Given the description of an element on the screen output the (x, y) to click on. 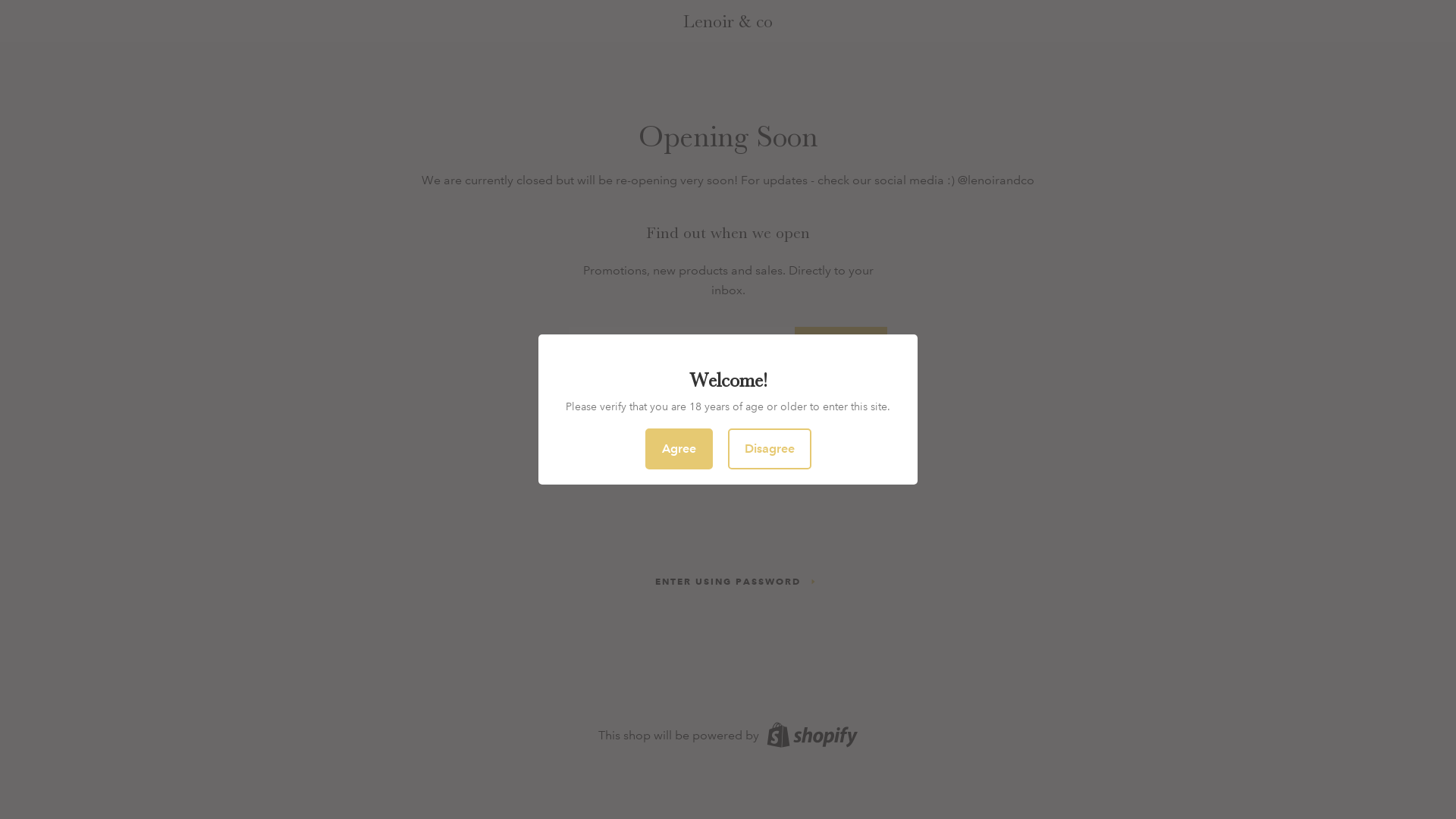
Agree Element type: text (678, 448)
SUBMIT Element type: text (840, 345)
Instagram Element type: text (756, 460)
Disagree Element type: text (769, 448)
Facebook Element type: text (699, 460)
Pinterest Element type: text (727, 460)
Shopify Element type: text (810, 735)
ENTER USING PASSWORD Element type: text (727, 581)
